Given the description of an element on the screen output the (x, y) to click on. 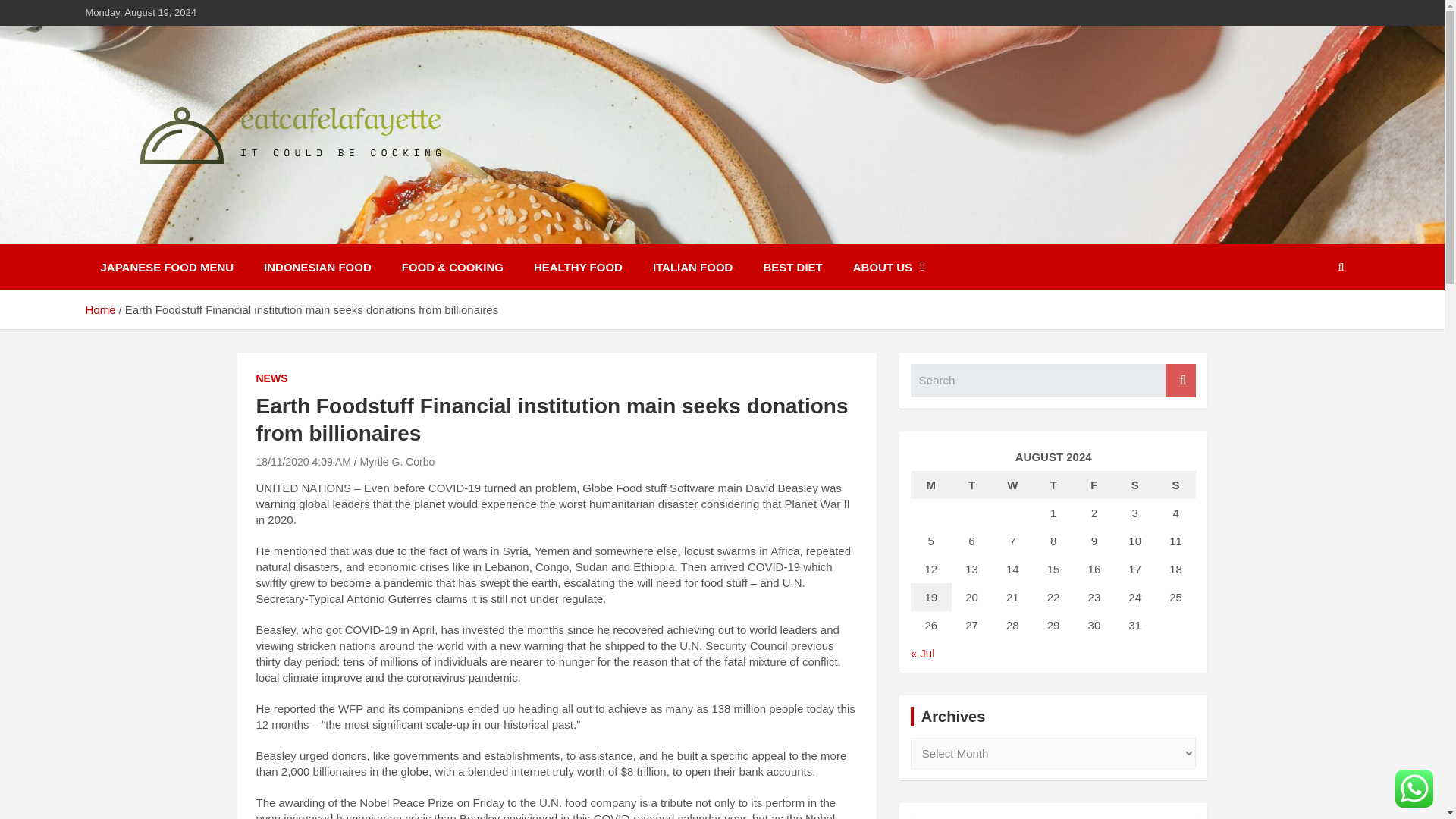
Thursday (1053, 484)
ITALIAN FOOD (692, 267)
BEST DIET (792, 267)
Tuesday (972, 484)
JAPANESE FOOD MENU (166, 267)
Sunday (1176, 484)
NEWS (272, 378)
INDONESIAN FOOD (317, 267)
HEALTHY FOOD (577, 267)
Home (99, 309)
